Given the description of an element on the screen output the (x, y) to click on. 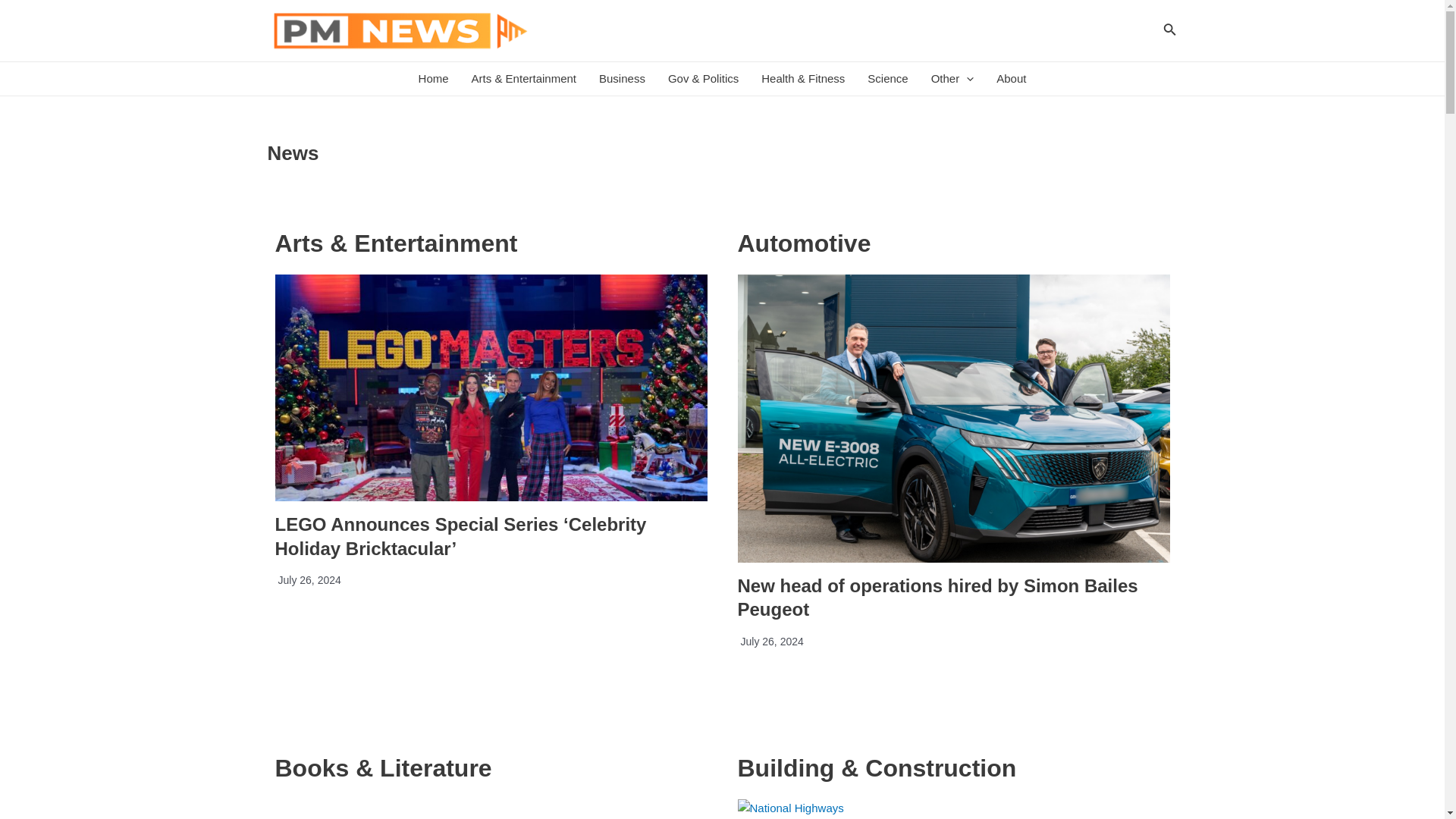
Home (433, 78)
Science (887, 78)
Other (952, 78)
About (1010, 78)
Business (622, 78)
